Given the description of an element on the screen output the (x, y) to click on. 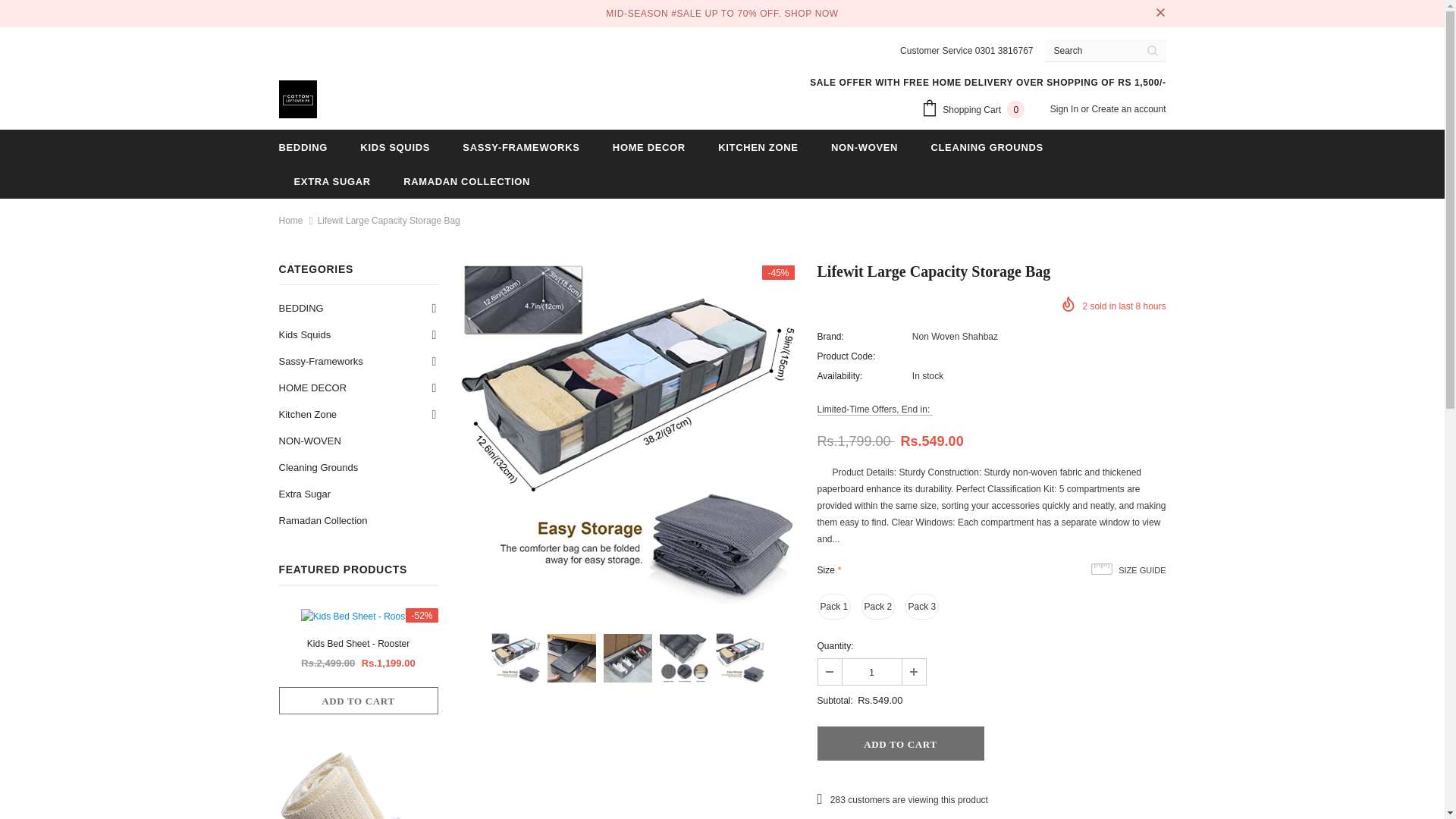
close (1160, 13)
1 (871, 671)
Shopping Cart 0 (976, 110)
Create an account (1128, 109)
Sign In (1065, 109)
BEDDING (304, 146)
Add to Cart (900, 743)
